Given the description of an element on the screen output the (x, y) to click on. 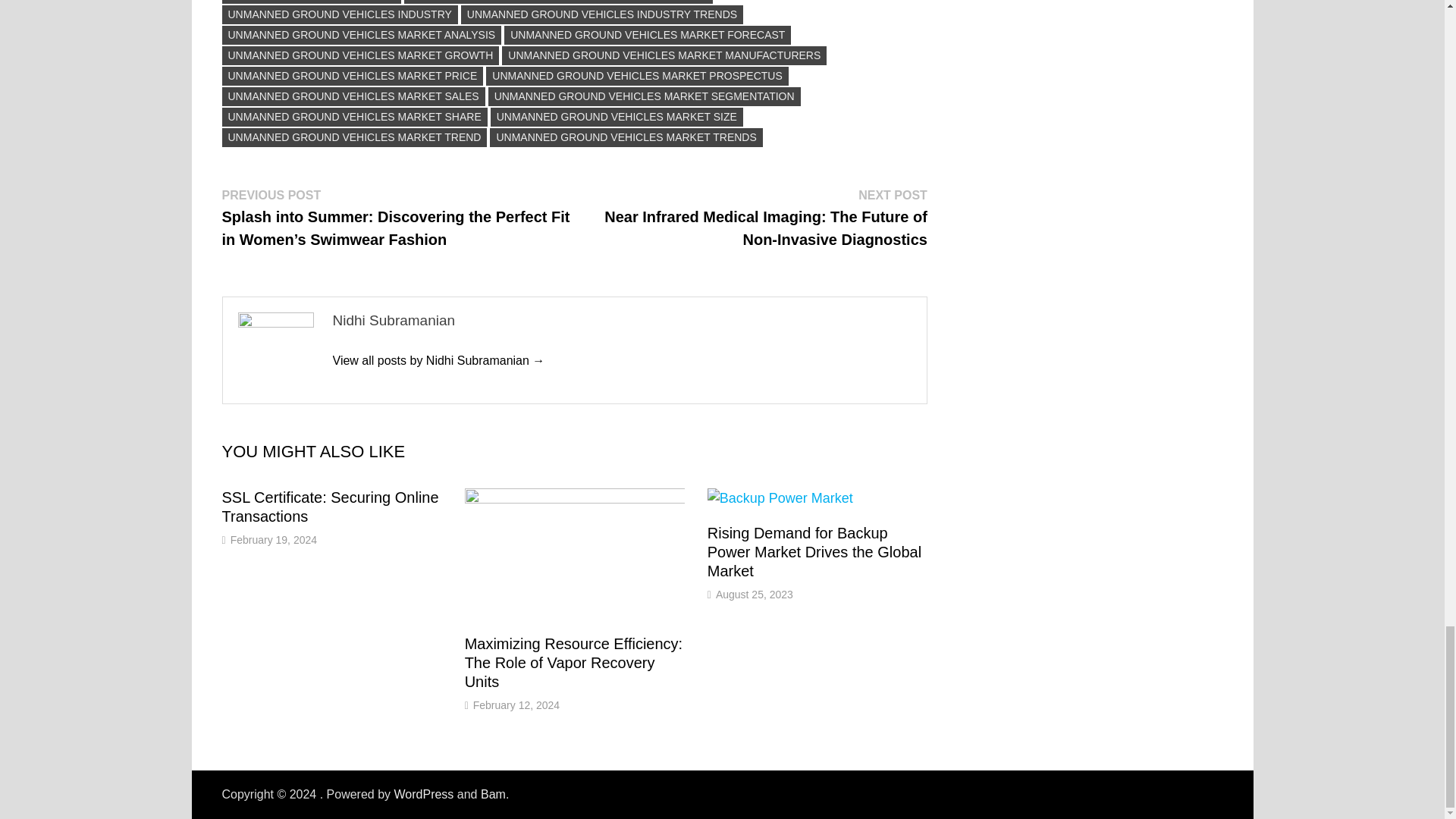
SSL Certificate: Securing Online Transactions (329, 506)
Nidhi Subramanian (437, 359)
